Given the description of an element on the screen output the (x, y) to click on. 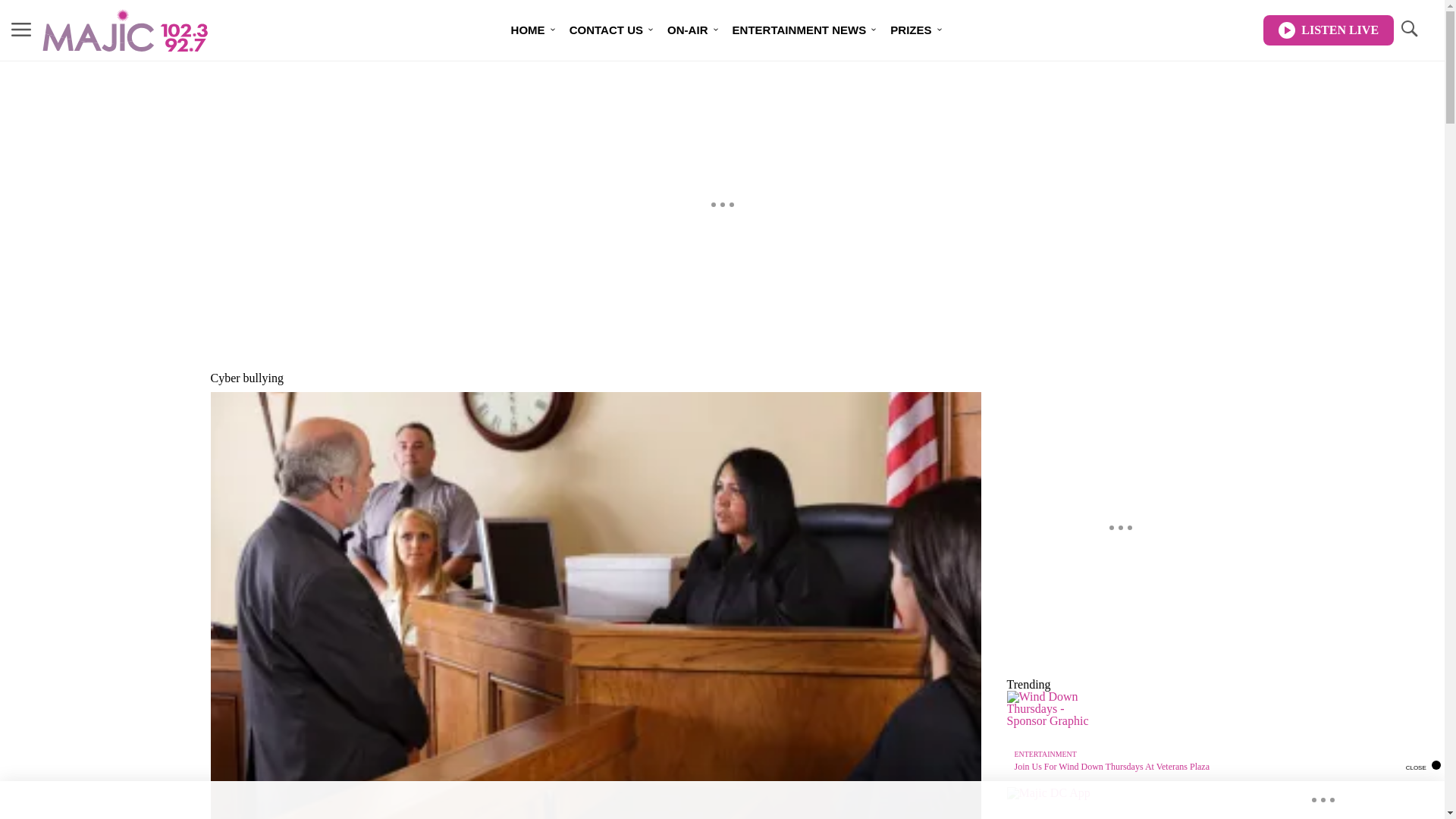
ON-AIR (687, 30)
ENTERTAINMENT NEWS (799, 30)
LISTEN LIVE (1328, 30)
TOGGLE SEARCH (1408, 28)
CONTACT US (606, 30)
MENU (20, 29)
HOME (528, 30)
TOGGLE SEARCH (1408, 30)
PRIZES (910, 30)
MENU (20, 30)
